Given the description of an element on the screen output the (x, y) to click on. 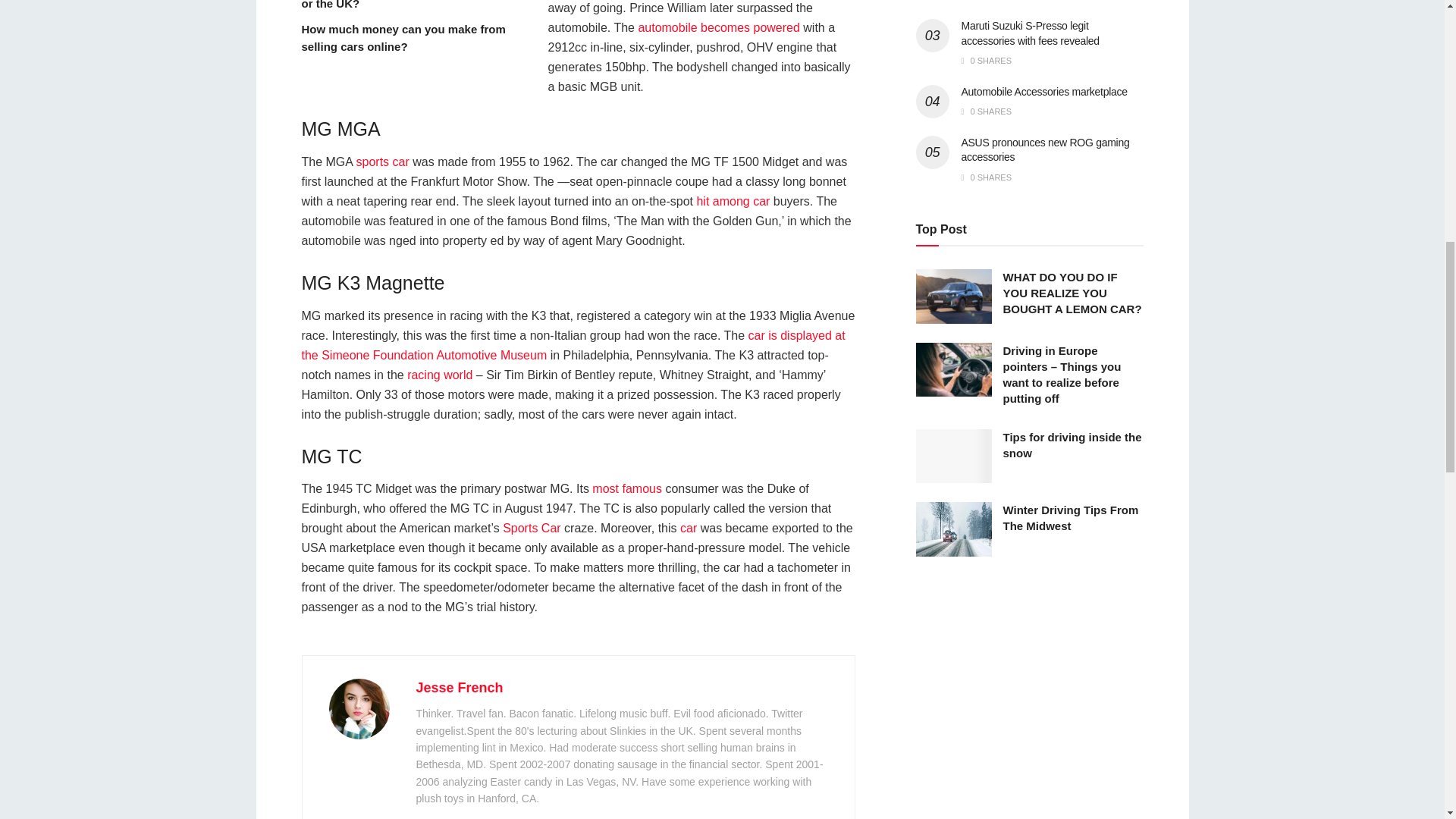
WHAT DO YOU DO IF YOU REALIZE YOU BOUGHT A LEMON CAR? 9 (953, 296)
Winter Driving Tips From The Midwest 12 (953, 529)
